Given the description of an element on the screen output the (x, y) to click on. 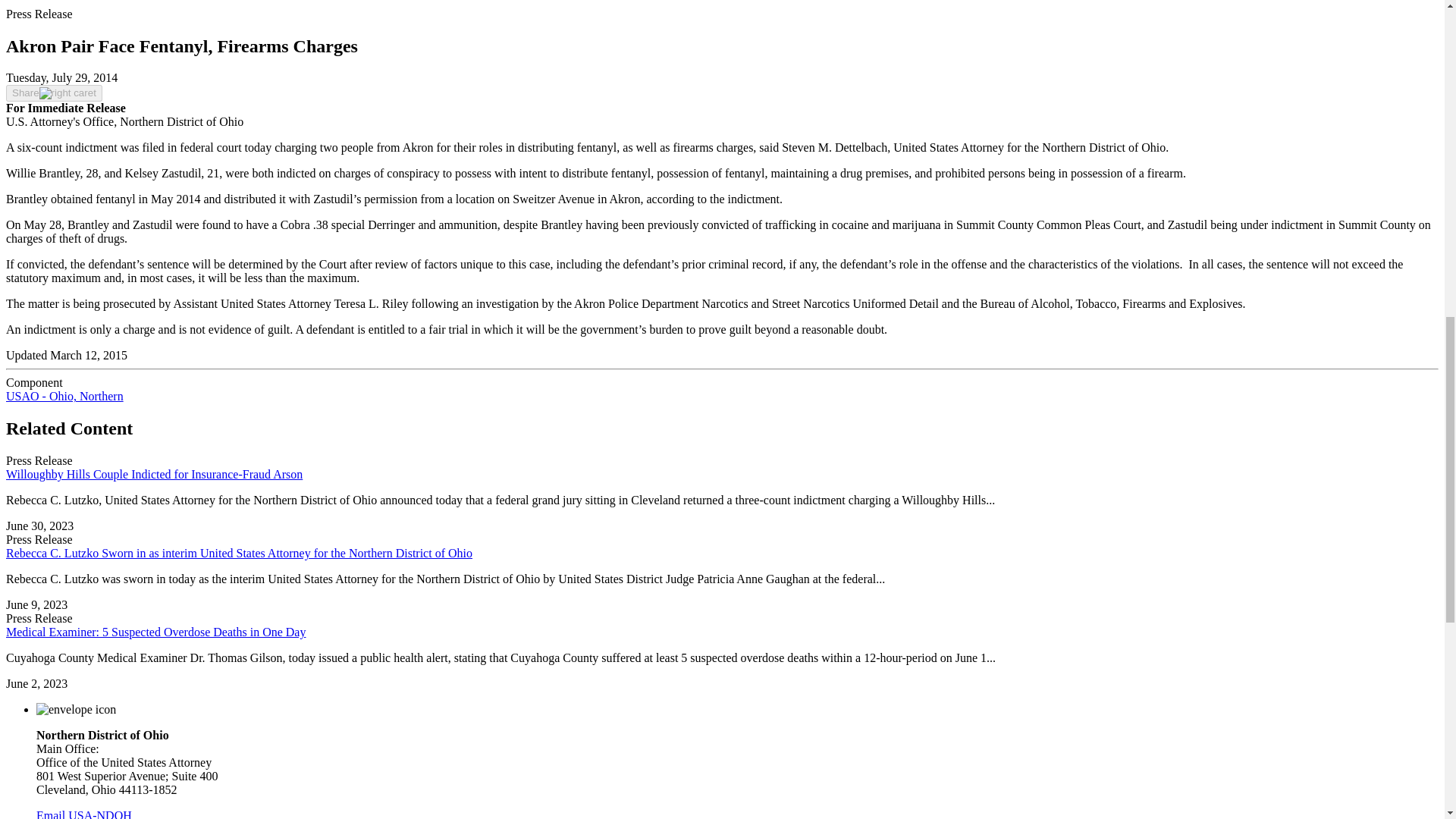
Share (53, 93)
Willoughby Hills Couple Indicted for Insurance-Fraud Arson (153, 473)
USAO - Ohio, Northern (64, 395)
